Given the description of an element on the screen output the (x, y) to click on. 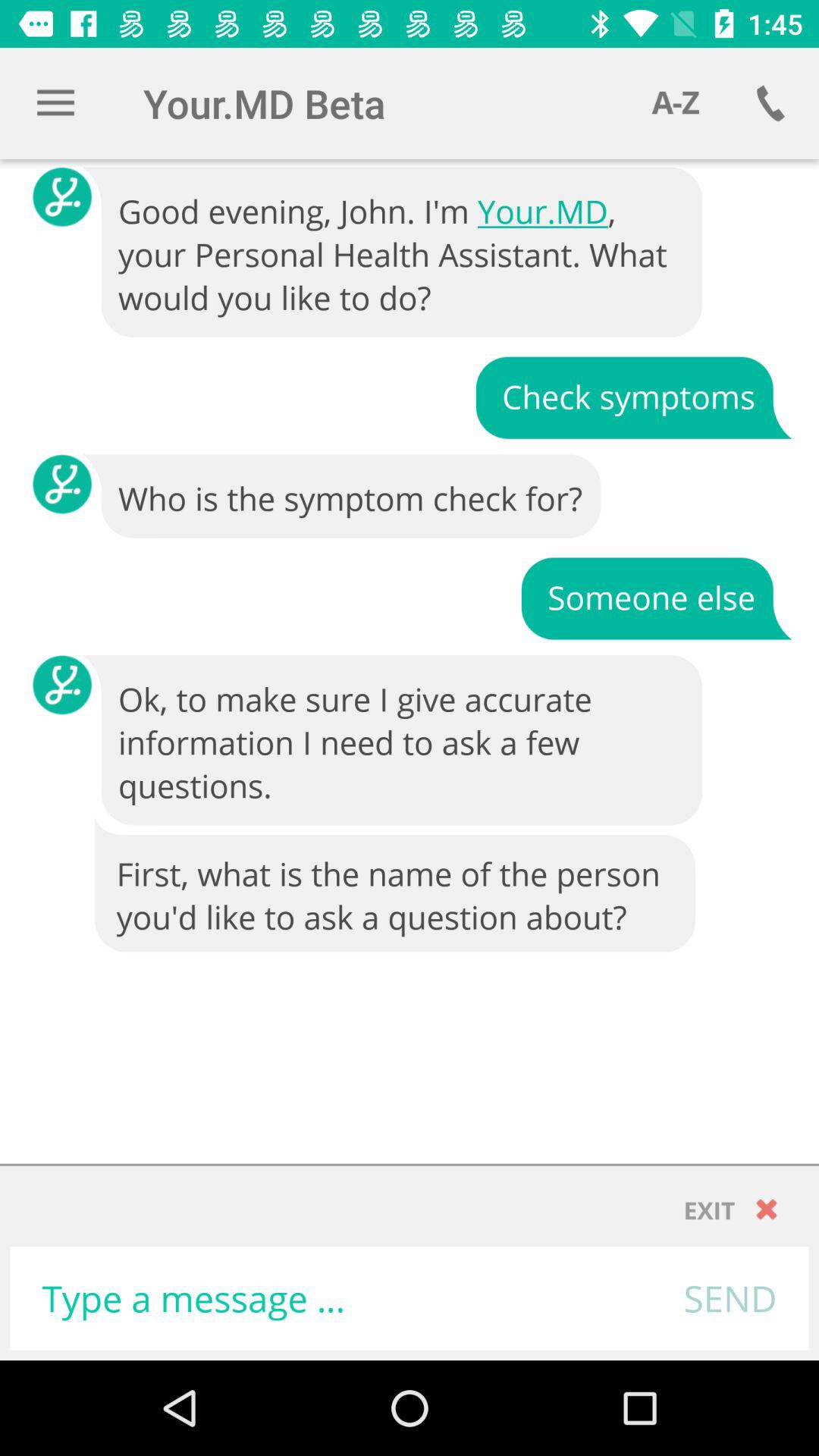
turn off icon above who is the icon (633, 396)
